Given the description of an element on the screen output the (x, y) to click on. 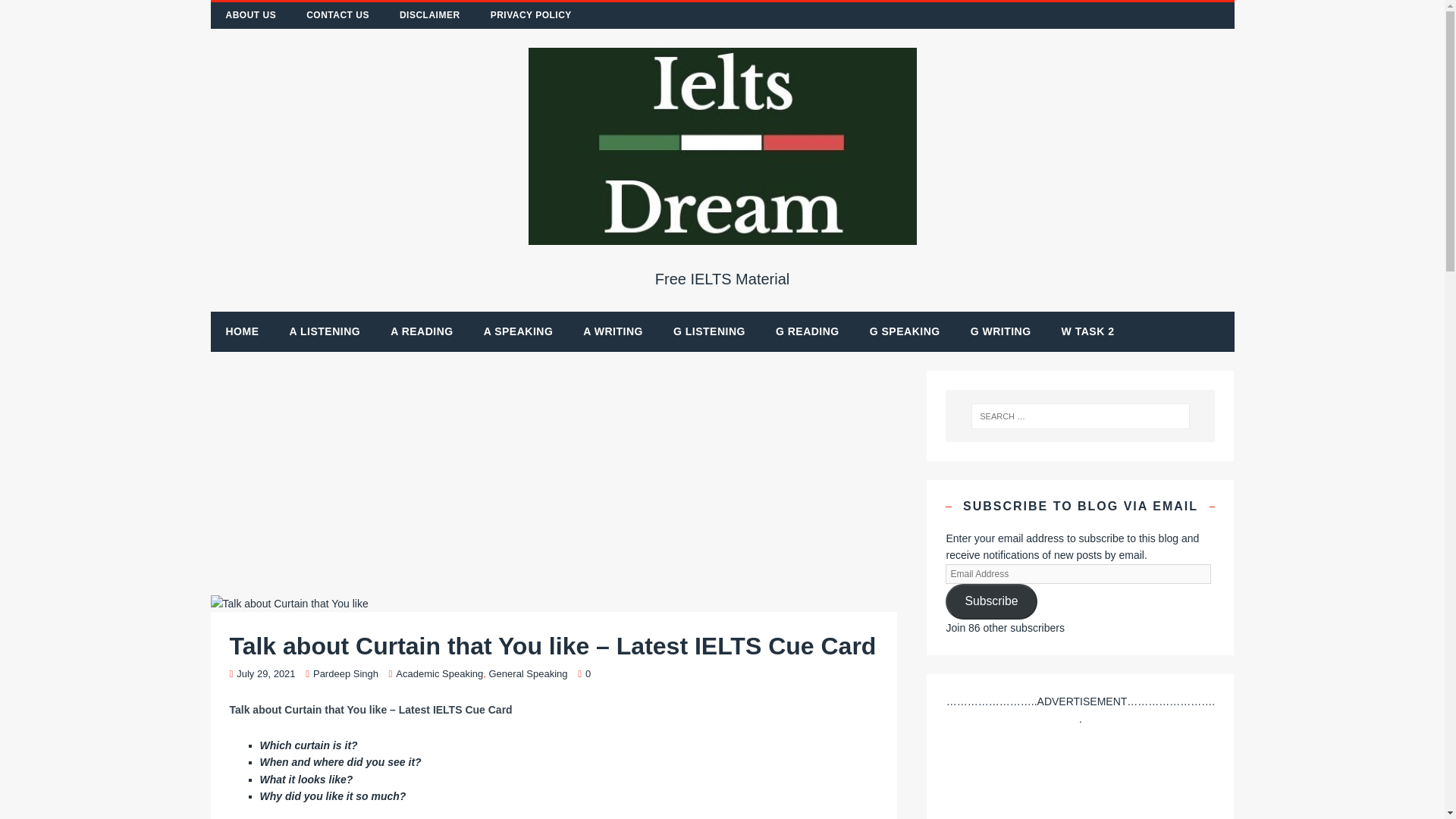
DISCLAIMER (430, 15)
General Speaking (527, 673)
G READING (807, 331)
W TASK 2 (1087, 331)
July 29, 2021 (265, 673)
ABOUT US (251, 15)
G WRITING (1000, 331)
PRIVACY POLICY (531, 15)
A WRITING (612, 331)
